Given the description of an element on the screen output the (x, y) to click on. 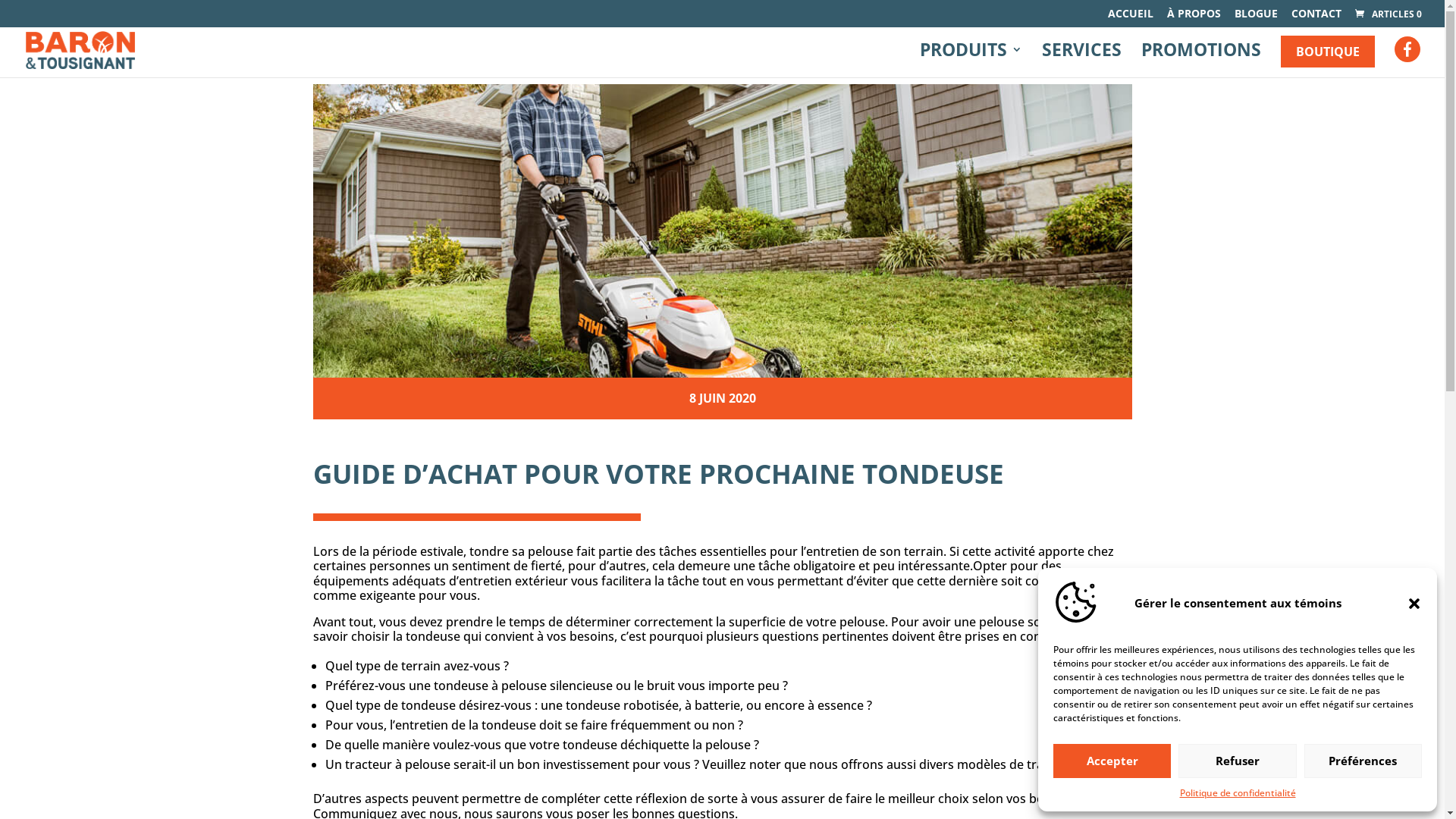
Accepter Element type: text (1111, 760)
FACEBOOK Element type: text (1407, 51)
PRODUITS Element type: text (970, 60)
BOUTIQUE Element type: text (1327, 51)
BLOGUE Element type: text (1255, 18)
SERVICES Element type: text (1081, 60)
ARTICLES 0 Element type: text (1386, 13)
Refuser Element type: text (1236, 760)
PROMOTIONS Element type: text (1201, 60)
CONTACT Element type: text (1316, 18)
ACCUEIL Element type: text (1130, 18)
